Given the description of an element on the screen output the (x, y) to click on. 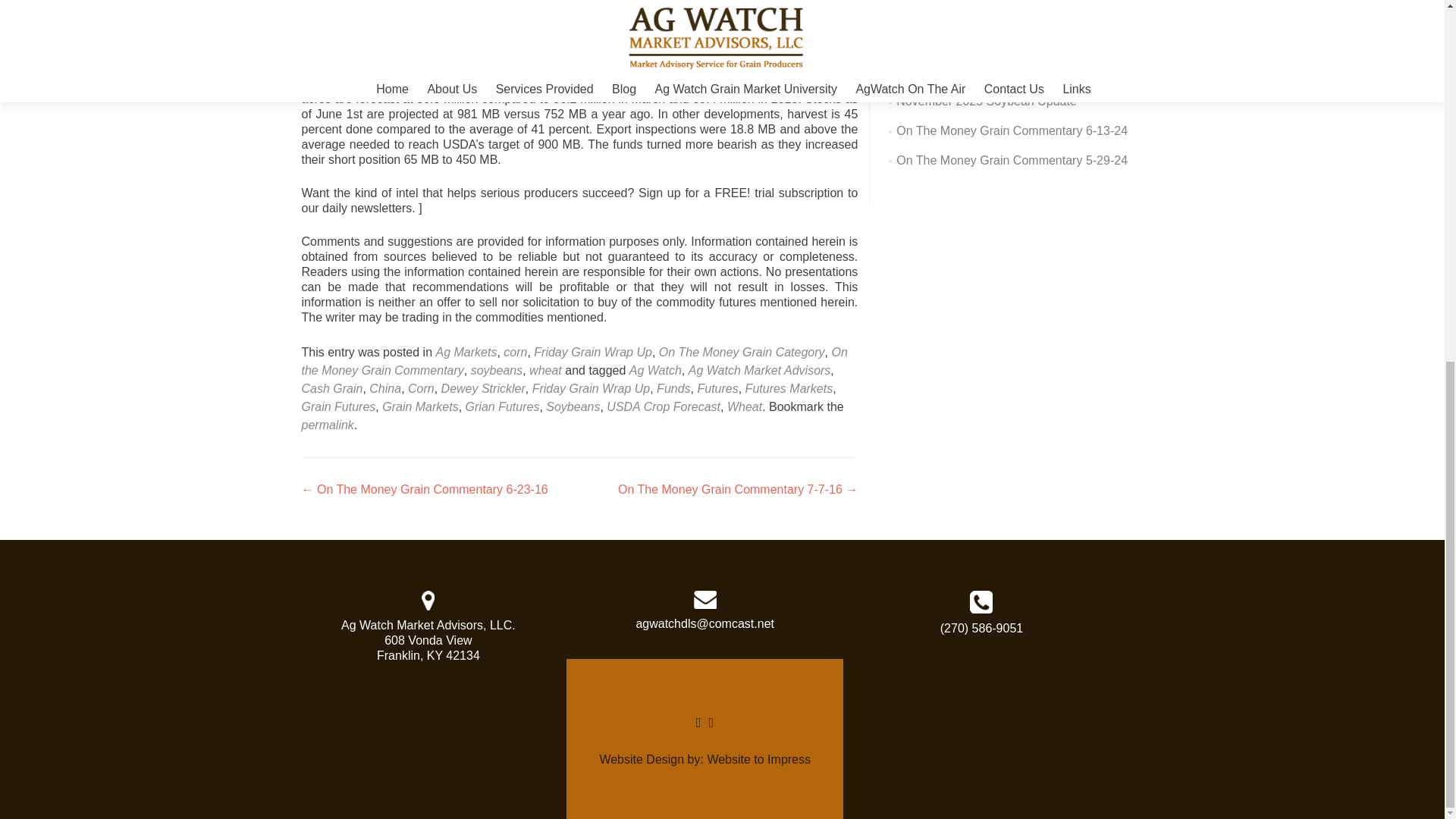
Funds (673, 388)
Friday Grain Wrap Up (593, 351)
USDA Crop Forecast (663, 406)
Futures (717, 388)
Cash Grain (331, 388)
soybeans (496, 369)
corn (515, 351)
Wheat (743, 406)
Dewey Strickler (483, 388)
On The Money Grain Category (742, 351)
permalink (327, 424)
Soybeans (572, 406)
China (385, 388)
Ag Watch Market Advisors (759, 369)
Ag Watch (654, 369)
